Given the description of an element on the screen output the (x, y) to click on. 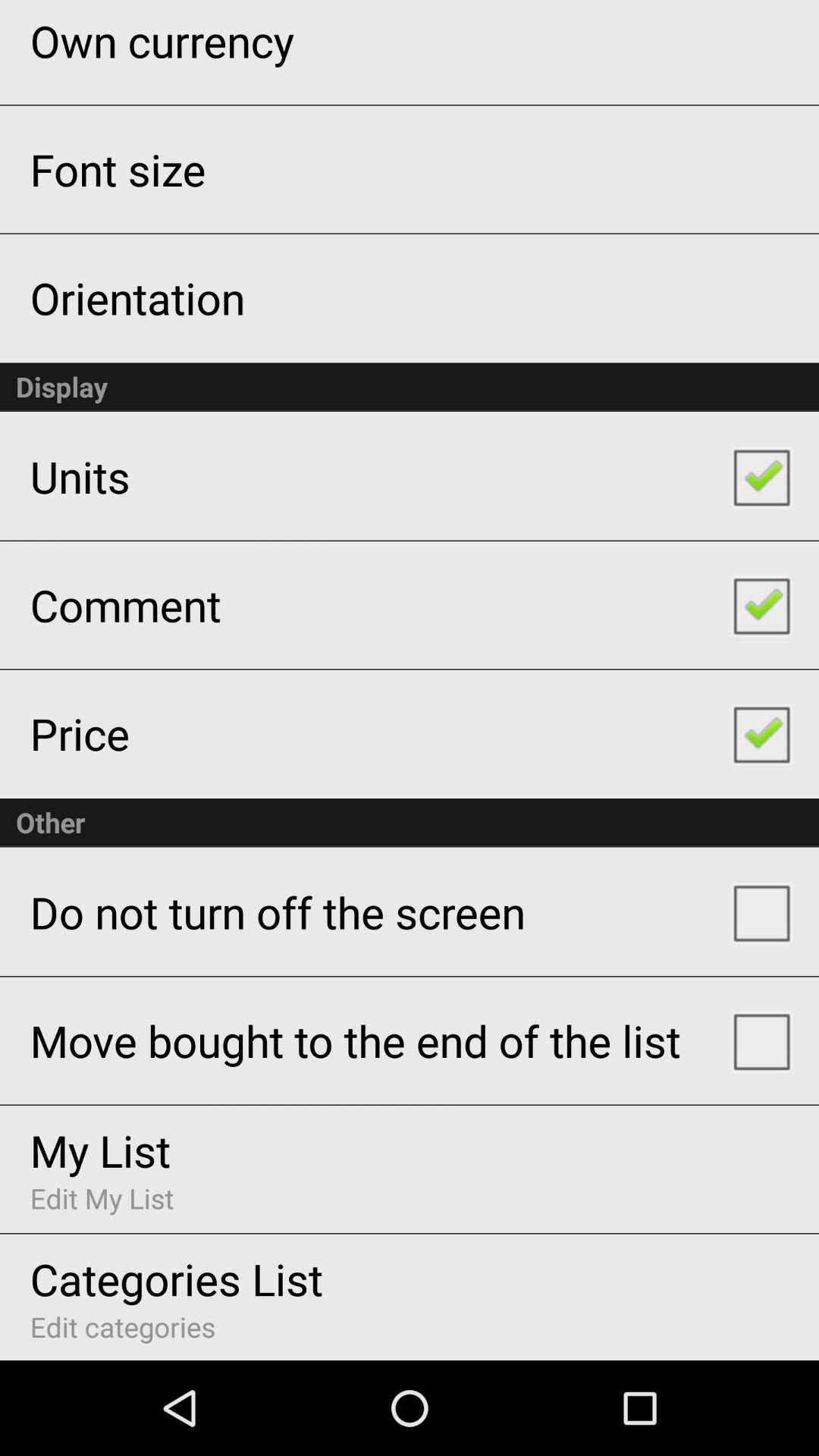
swipe to categories list icon (176, 1278)
